Given the description of an element on the screen output the (x, y) to click on. 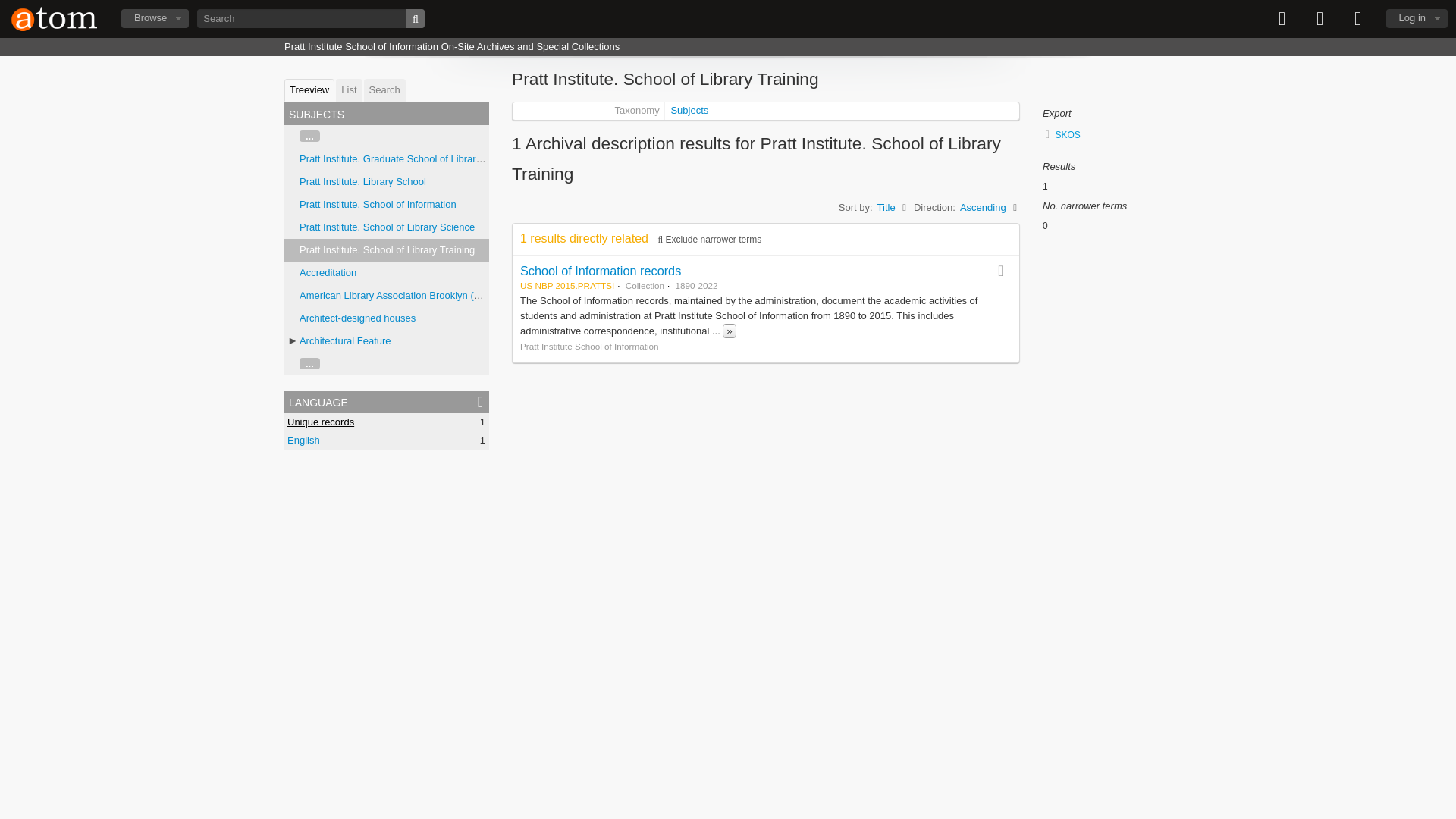
Log in (1416, 18)
Clipboard (1282, 18)
Language (1320, 18)
Browse (154, 18)
Pratt Institute. School of Library Science (386, 226)
Architect-designed houses (356, 317)
Pratt Institute. School of Information (378, 204)
Quick links (1358, 18)
Accreditation (327, 272)
Pratt Institute. School of Library Training (386, 249)
Architectural Feature (345, 340)
Search (385, 89)
... (309, 363)
List (348, 89)
